Given the description of an element on the screen output the (x, y) to click on. 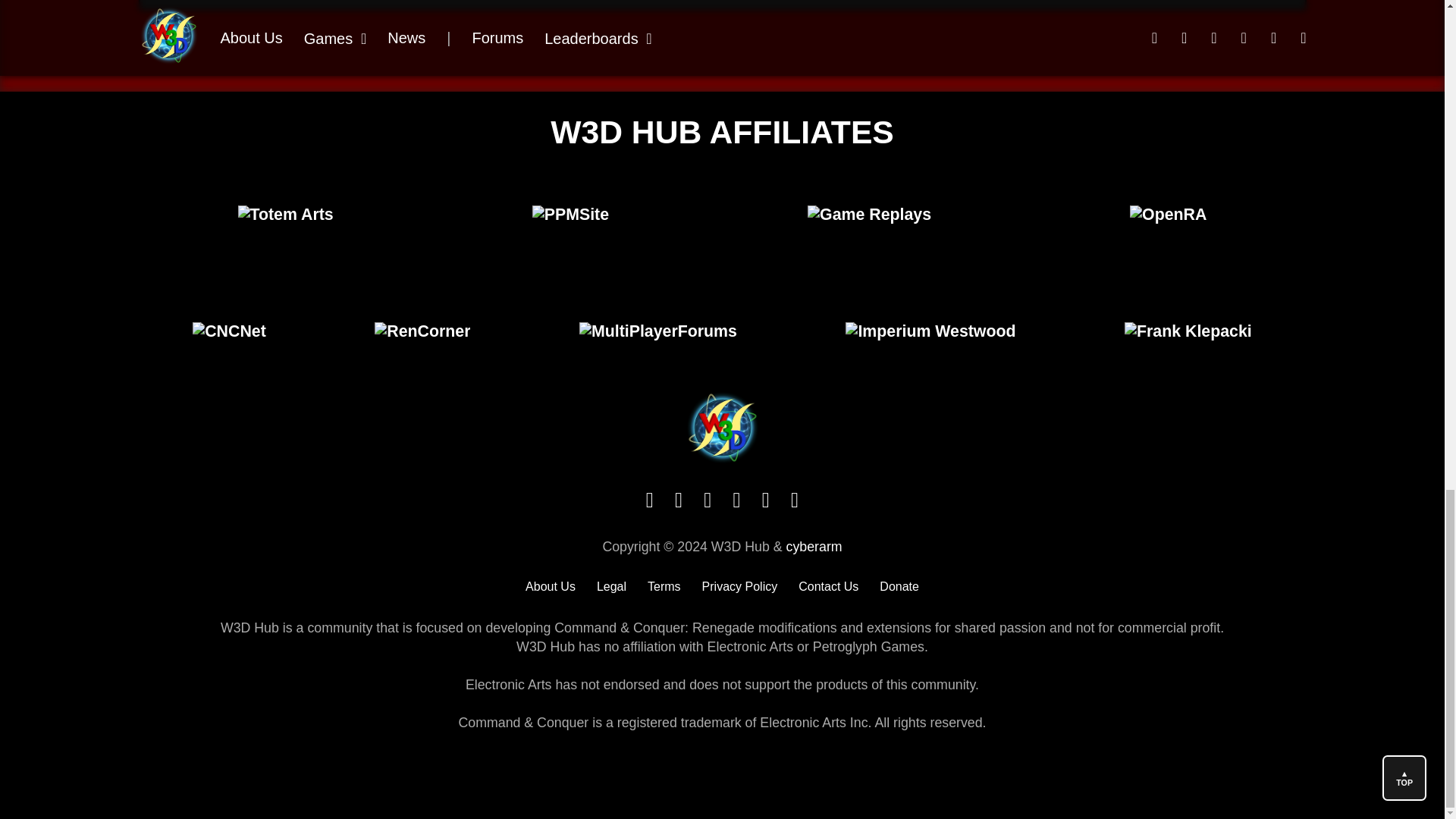
W3D Hub (722, 460)
Game Replays (869, 214)
Imperium Westwood (930, 331)
MultiPlayerForums (658, 331)
OpenRA (1168, 214)
RenCorner (422, 331)
CNCNet (229, 331)
Totem Arts (285, 214)
Frank Klepacki (1188, 331)
PPMSite (569, 214)
